Given the description of an element on the screen output the (x, y) to click on. 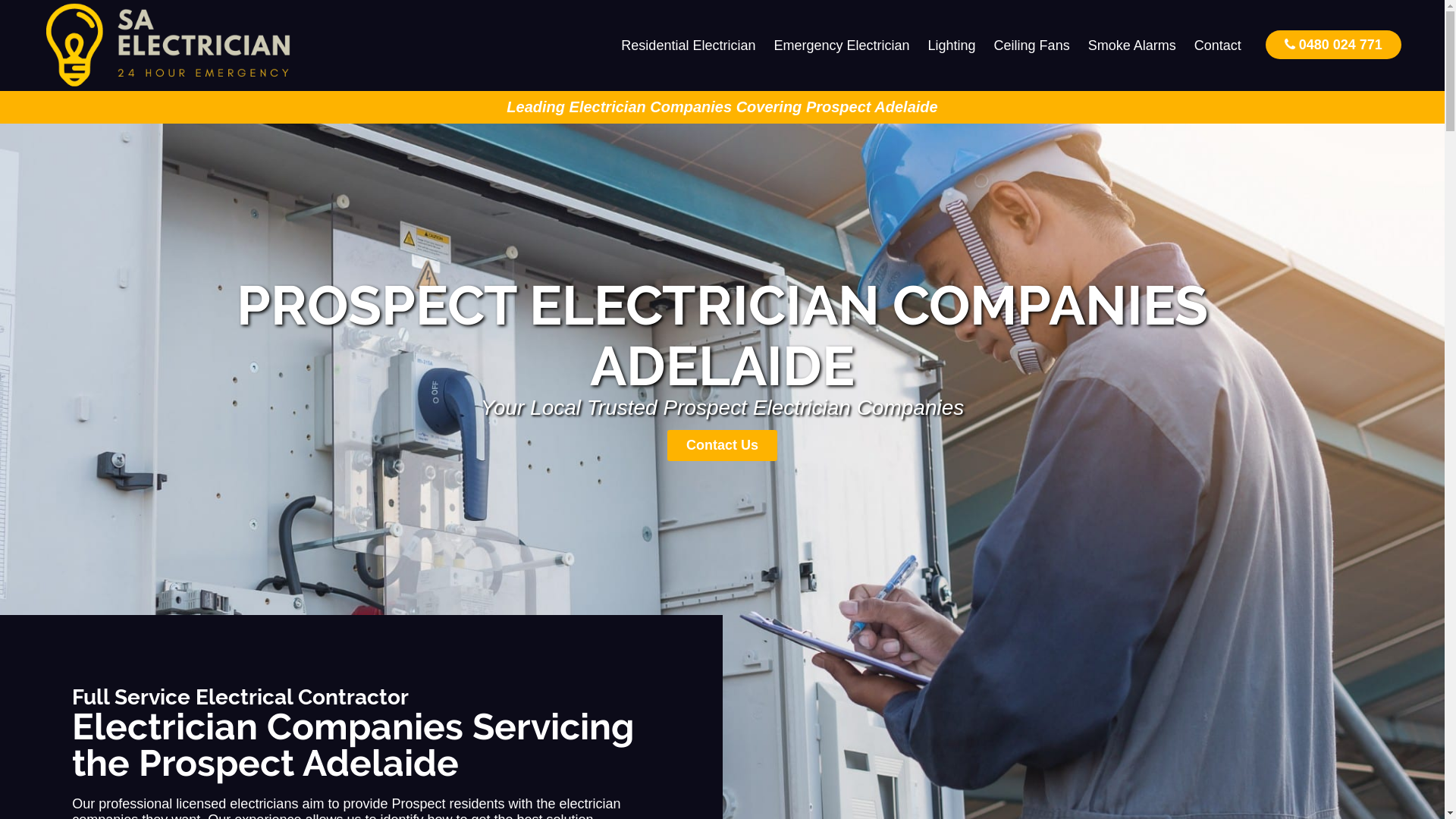
0480 024 771 Element type: text (1333, 44)
Ceiling Fans Element type: text (1032, 45)
Residential Electrician Element type: text (687, 45)
Smoke Alarms Element type: text (1132, 45)
Contact Element type: text (1217, 45)
Lighting Element type: text (952, 45)
Emergency Electrician Element type: text (841, 45)
Contact Us Element type: text (722, 445)
